Given the description of an element on the screen output the (x, y) to click on. 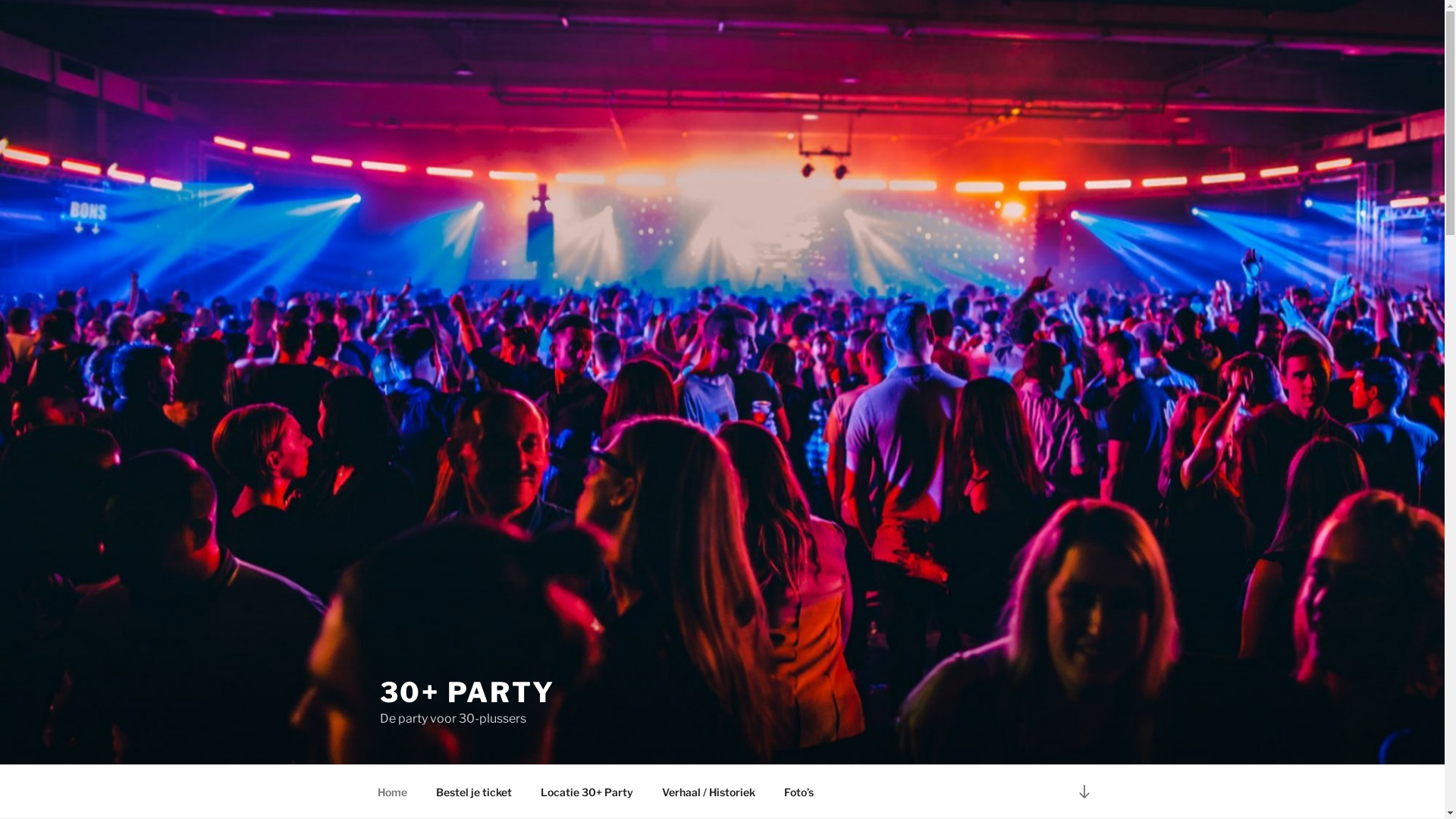
Home Element type: text (392, 791)
Naar beneden scrollen naar inhoud Element type: text (1083, 790)
Verhaal / Historiek Element type: text (708, 791)
30+ PARTY Element type: text (466, 692)
Locatie 30+ Party Element type: text (586, 791)
Bestel je ticket Element type: text (474, 791)
